Given the description of an element on the screen output the (x, y) to click on. 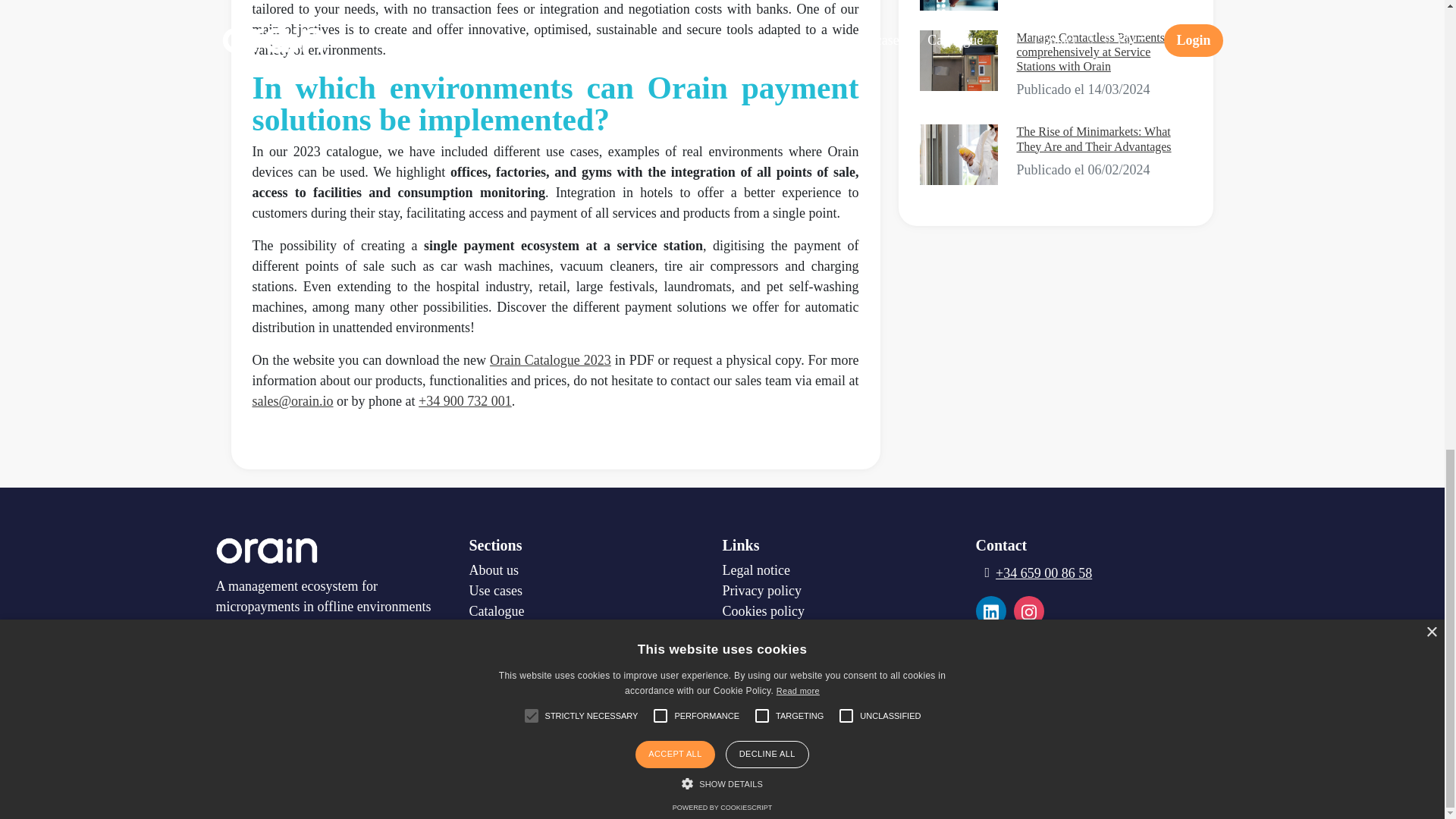
Google Play (269, 688)
App Store (378, 688)
Orain Catalogue 2023 (550, 359)
